Given the description of an element on the screen output the (x, y) to click on. 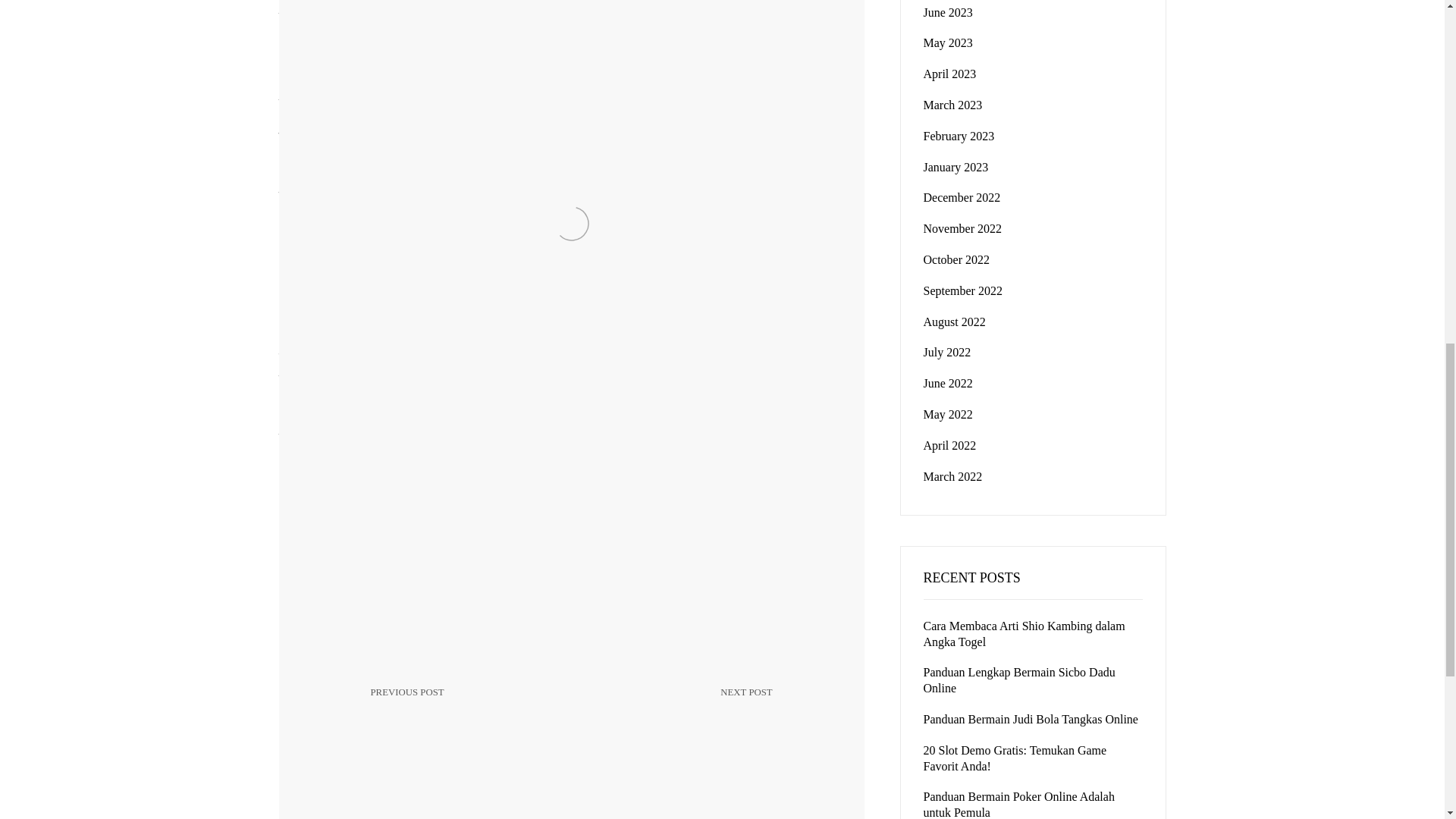
March 2023 (680, 714)
July 2022 (952, 104)
January 2023 (947, 351)
May 2023 (955, 166)
April 2023 (947, 42)
September 2022 (949, 73)
December 2022 (963, 290)
November 2022 (962, 196)
June 2023 (963, 228)
